Given the description of an element on the screen output the (x, y) to click on. 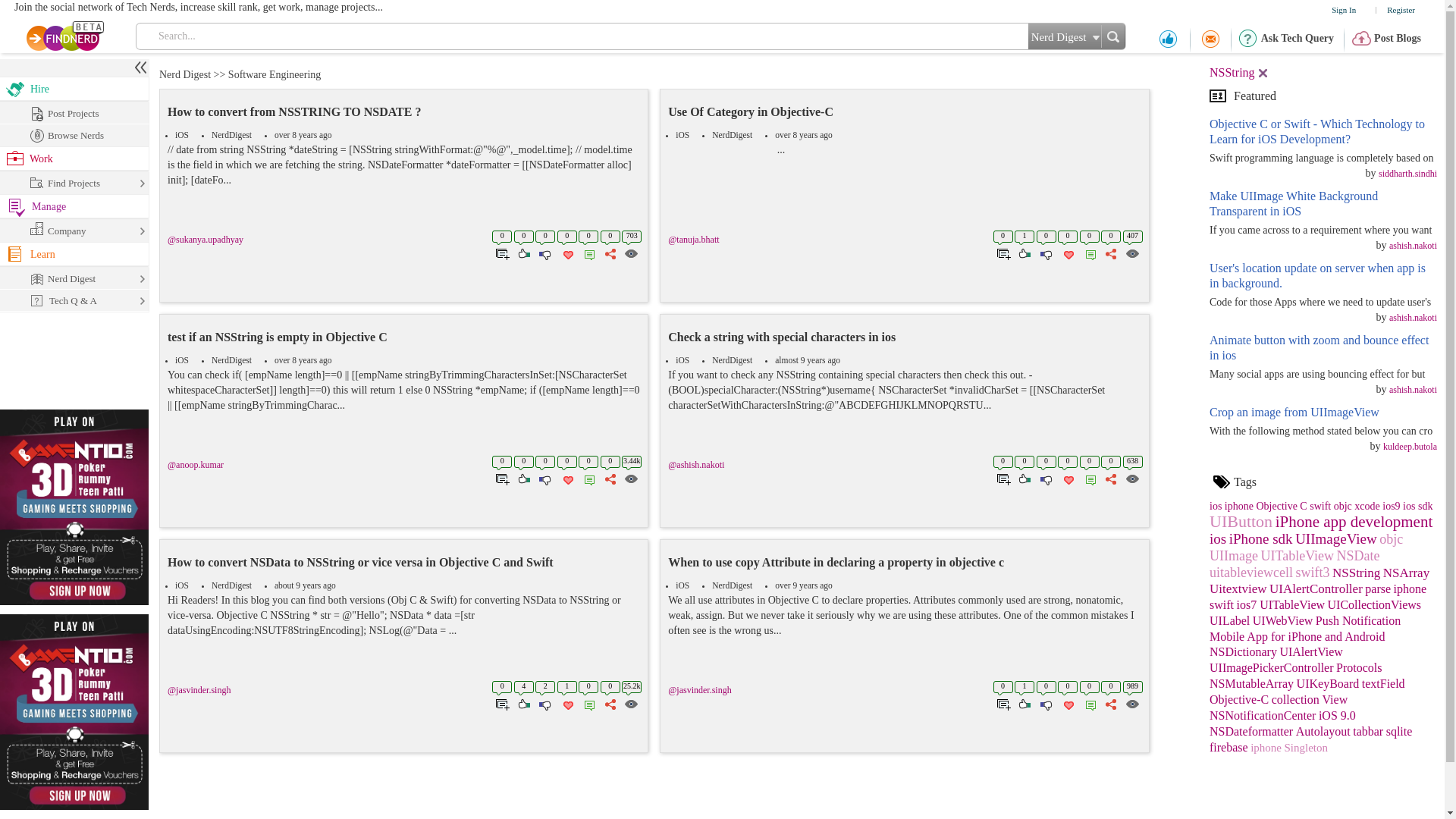
Objective C (1281, 505)
objc (1390, 540)
ios (1217, 540)
Negative Vote (543, 252)
Animate button with zoom and bounce effect in ios (1323, 347)
iphone (1238, 505)
View Counts (630, 252)
NSDate (1358, 556)
Crop an image from UIImageView  (1323, 412)
Ask Tech Query (1296, 38)
Sign In (1342, 9)
User's location update on server when app is in background. (1323, 276)
swift3 (1312, 573)
Ask Tech Query (1296, 38)
